Given the description of an element on the screen output the (x, y) to click on. 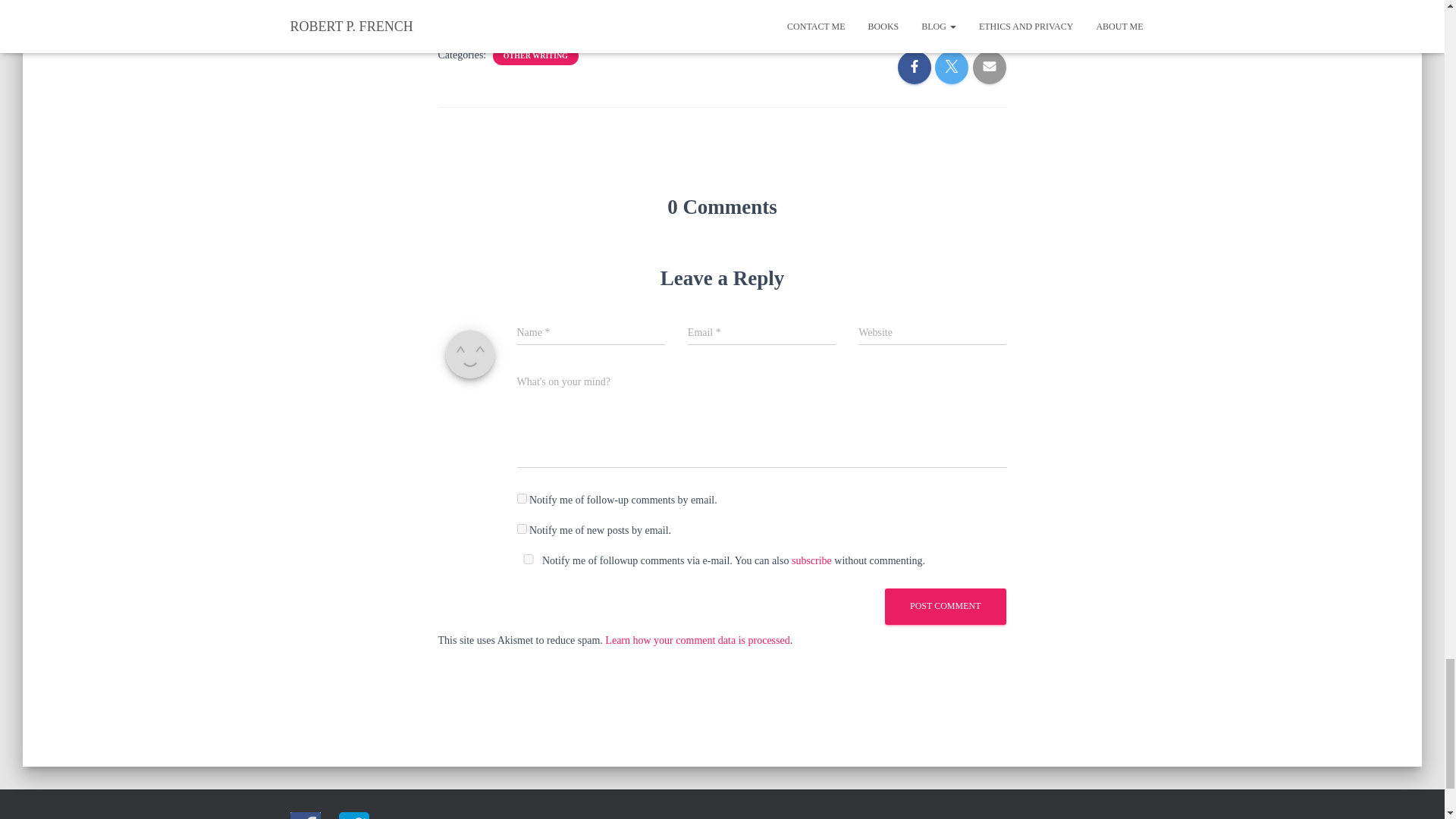
subscribe (811, 560)
Click to share on X (525, 4)
OTHER WRITING (535, 55)
yes (528, 559)
subscribe (521, 498)
Learn how your comment data is processed (697, 639)
Post Comment (945, 606)
Post Comment (945, 606)
X (525, 4)
Facebook (472, 4)
Click to share on Facebook (472, 4)
subscribe (521, 528)
